Given the description of an element on the screen output the (x, y) to click on. 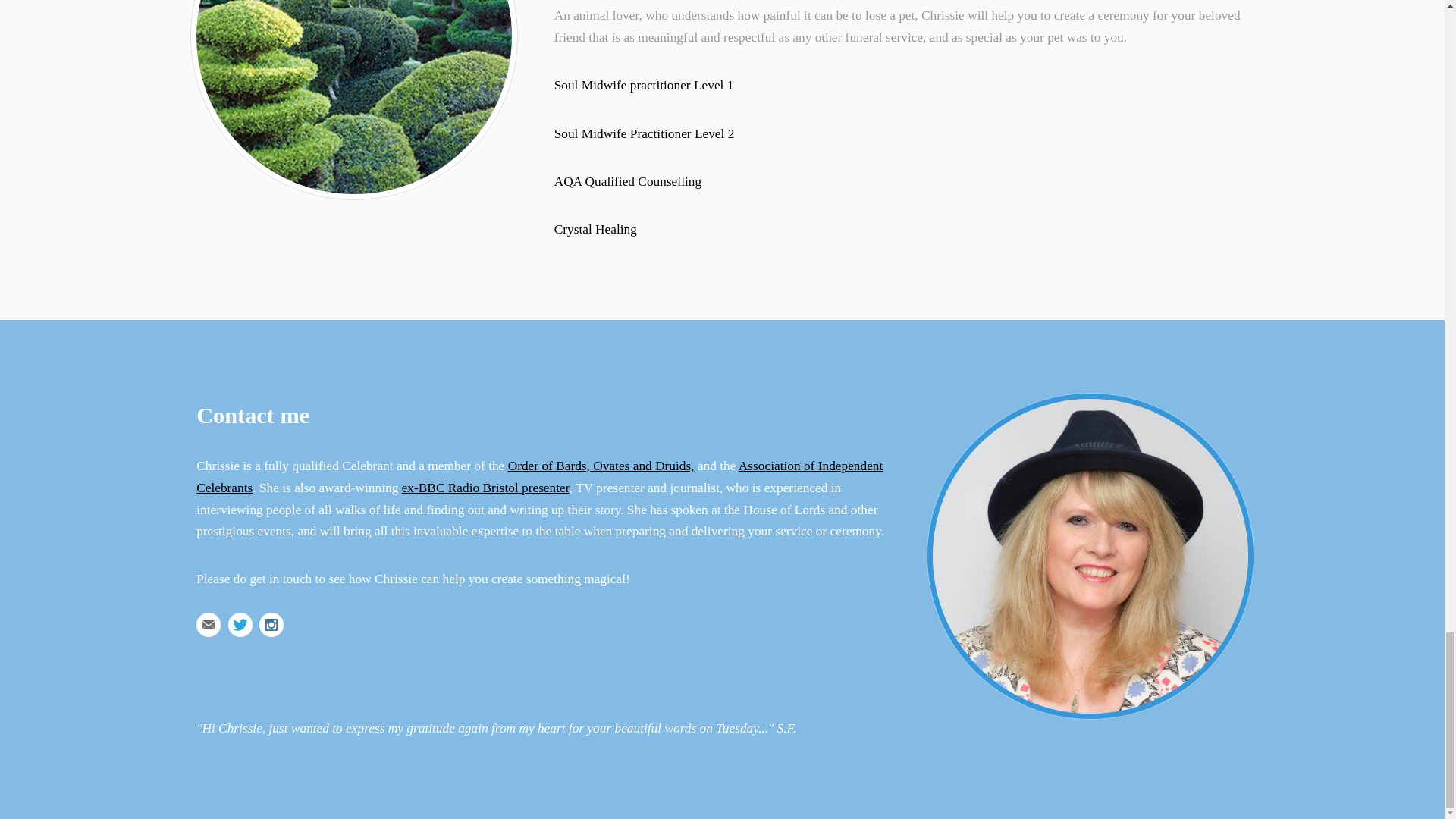
Association of Independent Celebrants (539, 476)
ex-BBC Radio Bristol presenter (485, 487)
Crystal Healing (595, 228)
AQA Qualified Counselling (627, 181)
AQA accredited Counswllor (627, 181)
Soul Midwife practitioner Level 1 (643, 84)
Certificate in Crystal Healing (595, 228)
Soul Midwife Practitioner Level 2 (644, 133)
Order of Bards, Ovates and Druids, (601, 465)
Qualified Soul Midwife (643, 84)
Accredited Soul Midwife Practitioner (644, 133)
